Given the description of an element on the screen output the (x, y) to click on. 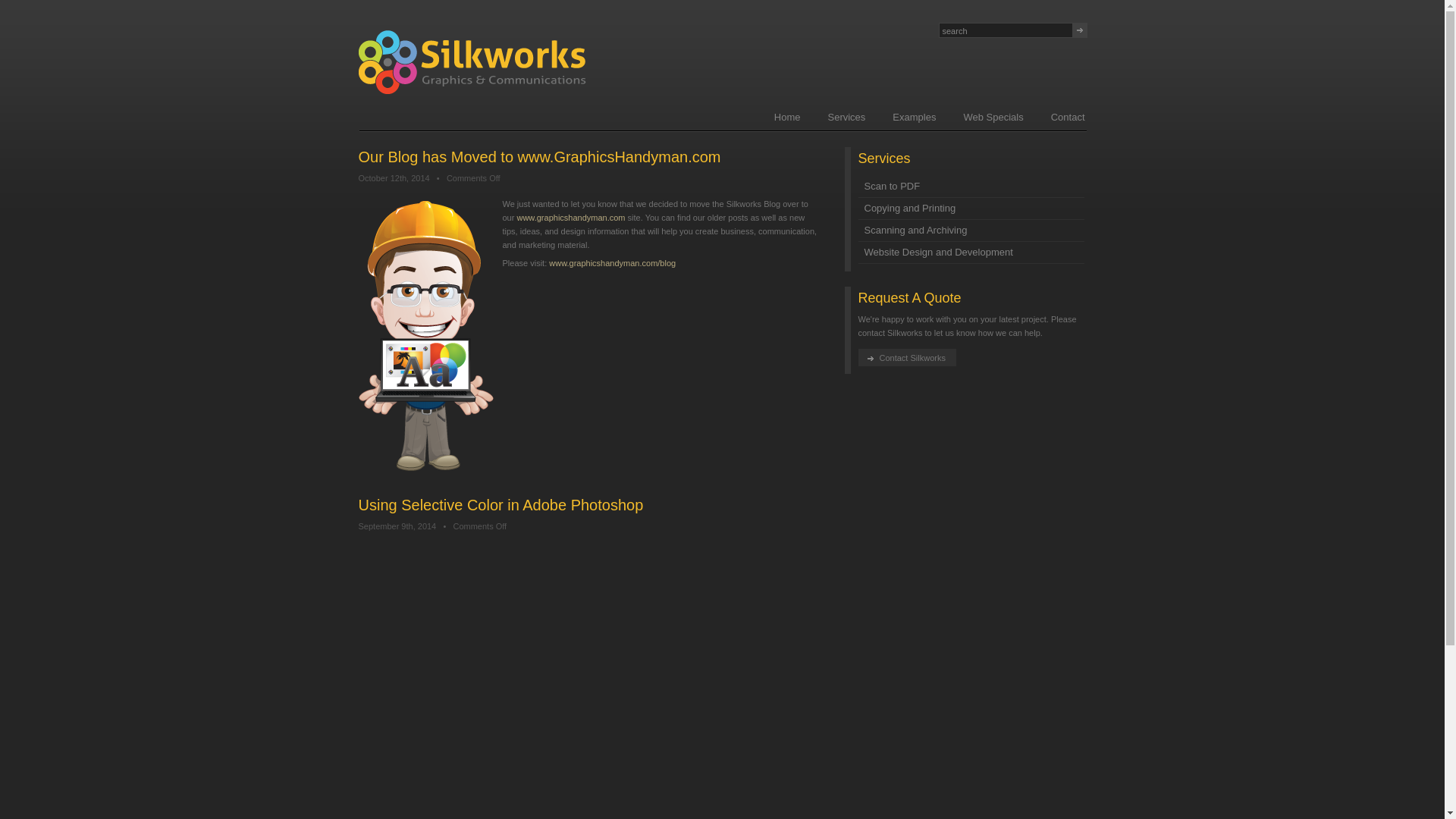
search (1006, 29)
Using Selective Color in Adobe Photoshop (500, 504)
Services (846, 117)
Copying and Printing (971, 209)
Home (786, 117)
Examples (914, 117)
Our Blog has Moved to www.GraphicsHandyman.com (539, 156)
search (1006, 29)
Website Design and Development (971, 252)
Contact (1067, 117)
